Given the description of an element on the screen output the (x, y) to click on. 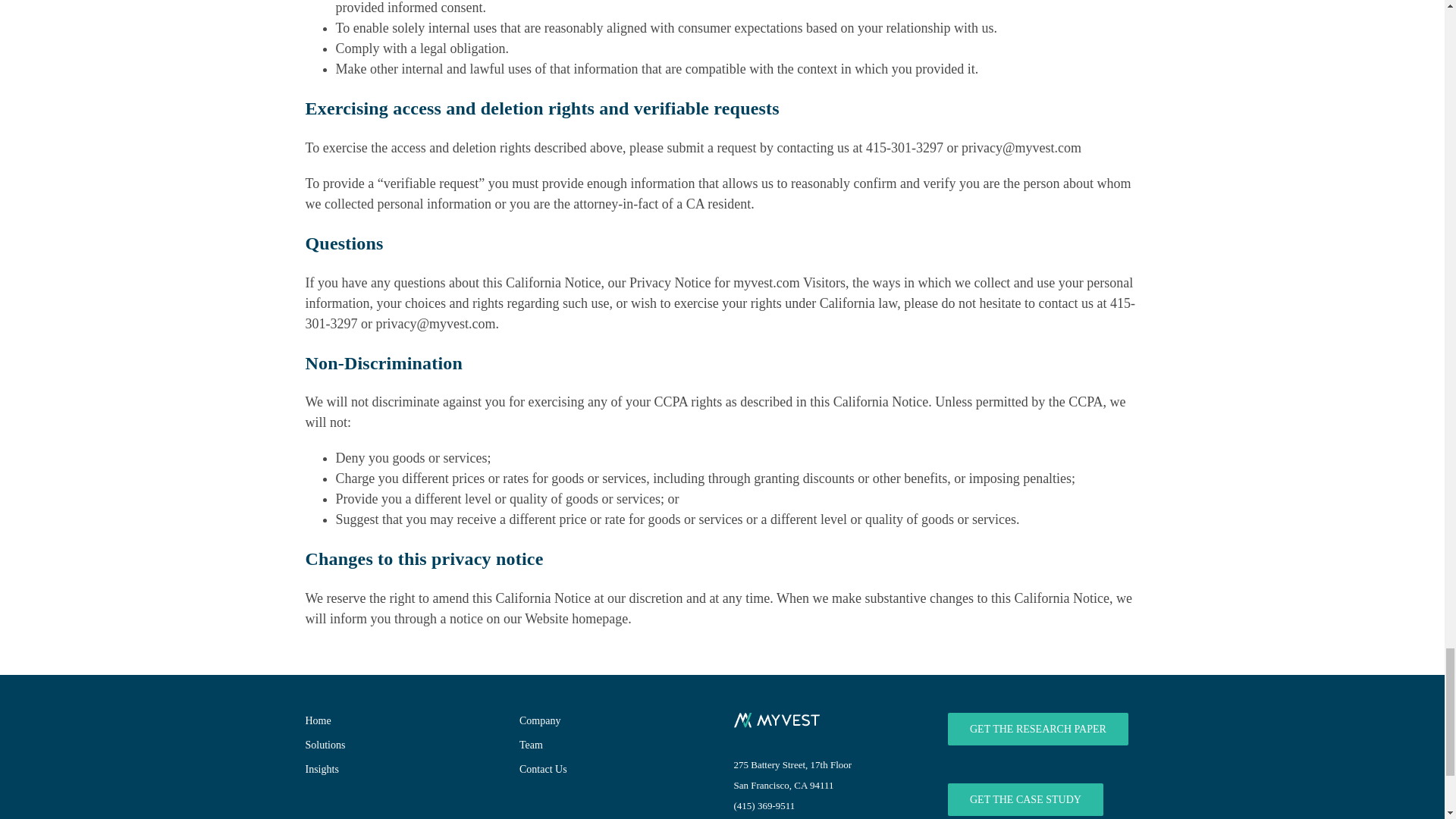
Company (613, 720)
Insights (398, 769)
Team (613, 744)
GET THE RESEARCH PAPER (1037, 728)
GET THE CASE STUDY (1025, 798)
Home (398, 720)
Contact Us (613, 769)
Solutions (398, 744)
